Given the description of an element on the screen output the (x, y) to click on. 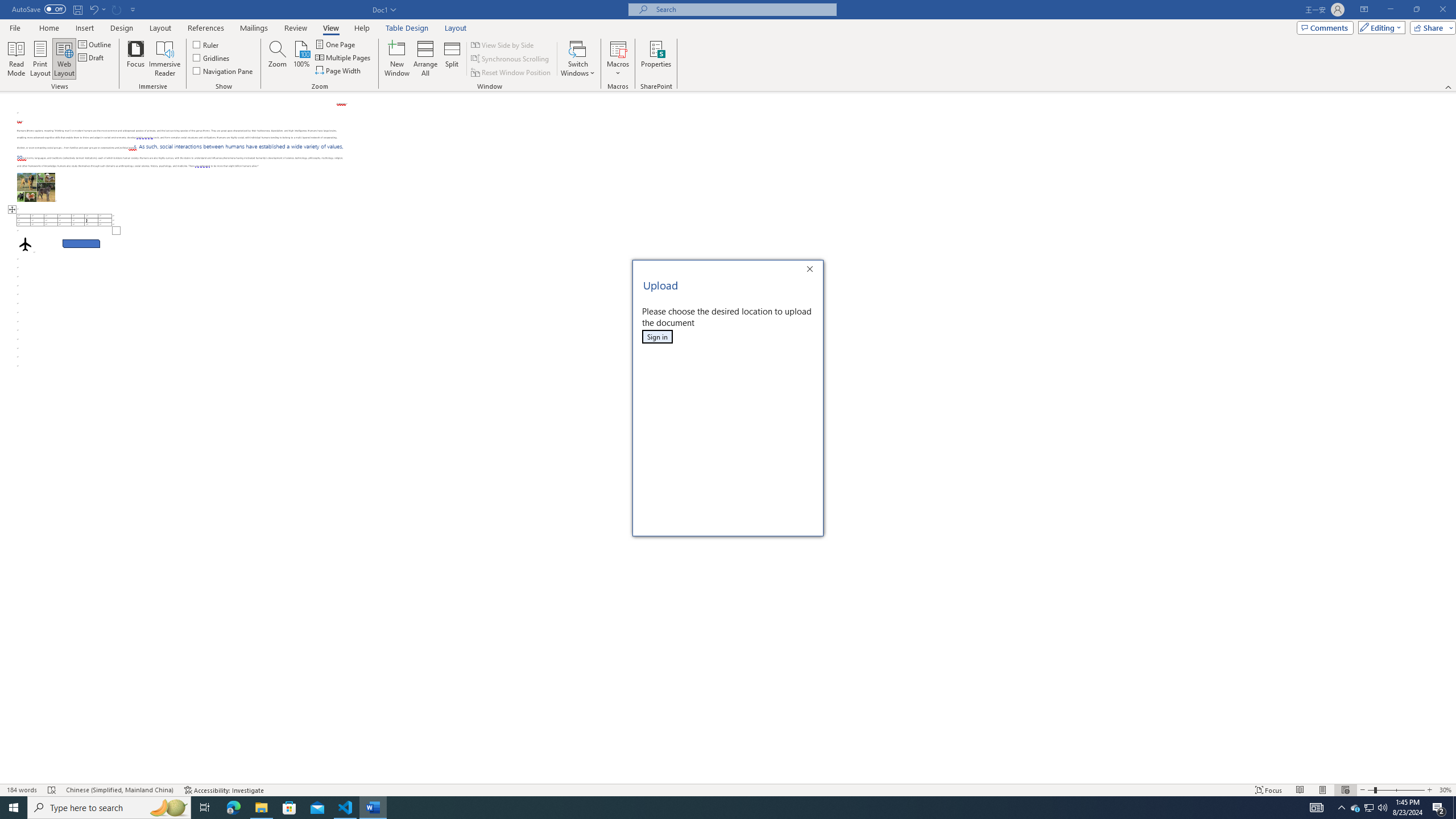
Reset Window Position (511, 72)
Running applications (717, 807)
Multiple Pages (343, 56)
100% (301, 58)
Page Width (338, 69)
Macros (617, 58)
Word - 1 running window (373, 807)
